Given the description of an element on the screen output the (x, y) to click on. 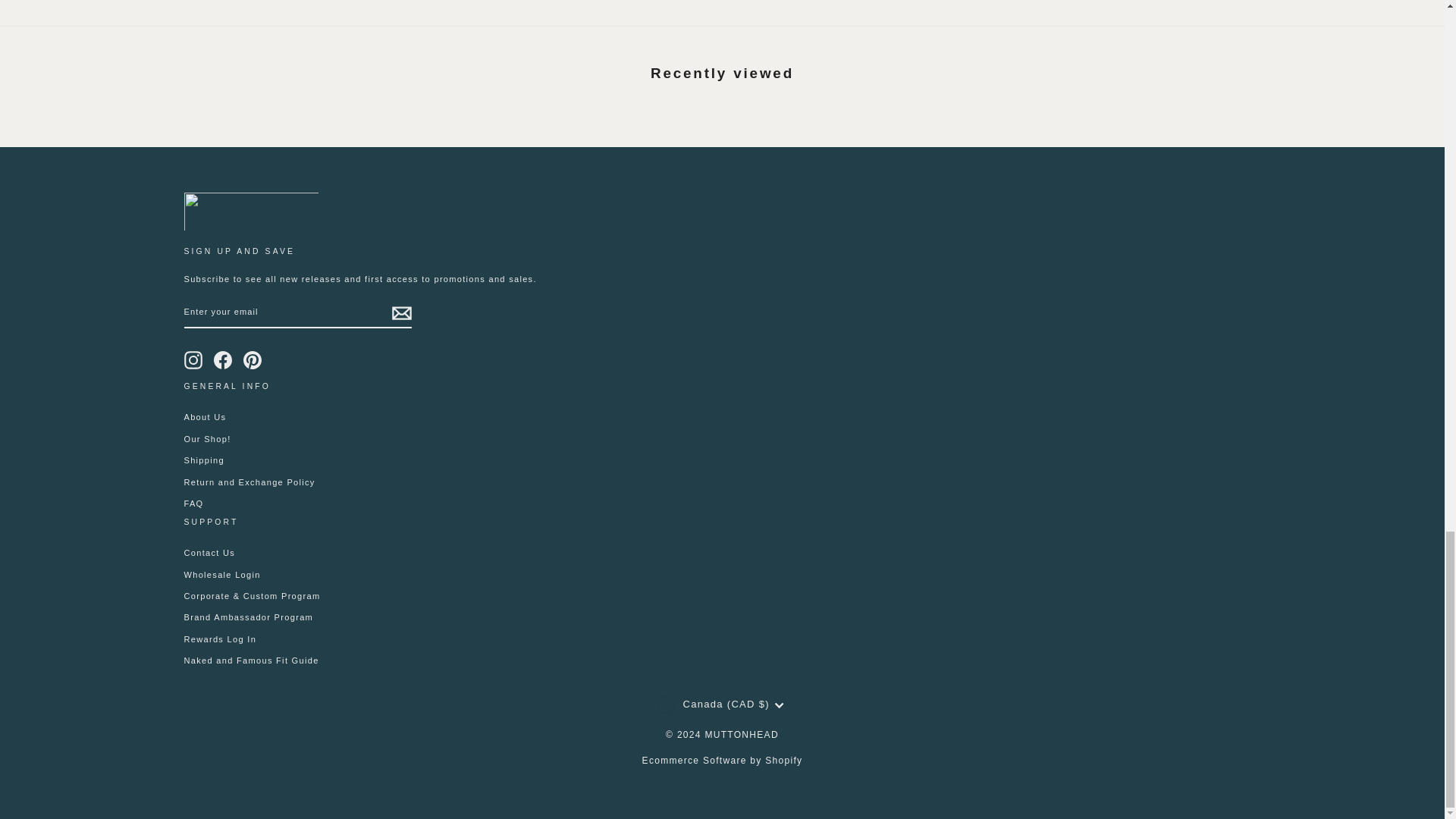
MUTTONHEAD on Facebook (222, 360)
MUTTONHEAD on Instagram (192, 360)
MUTTONHEAD on Pinterest (251, 360)
